Given the description of an element on the screen output the (x, y) to click on. 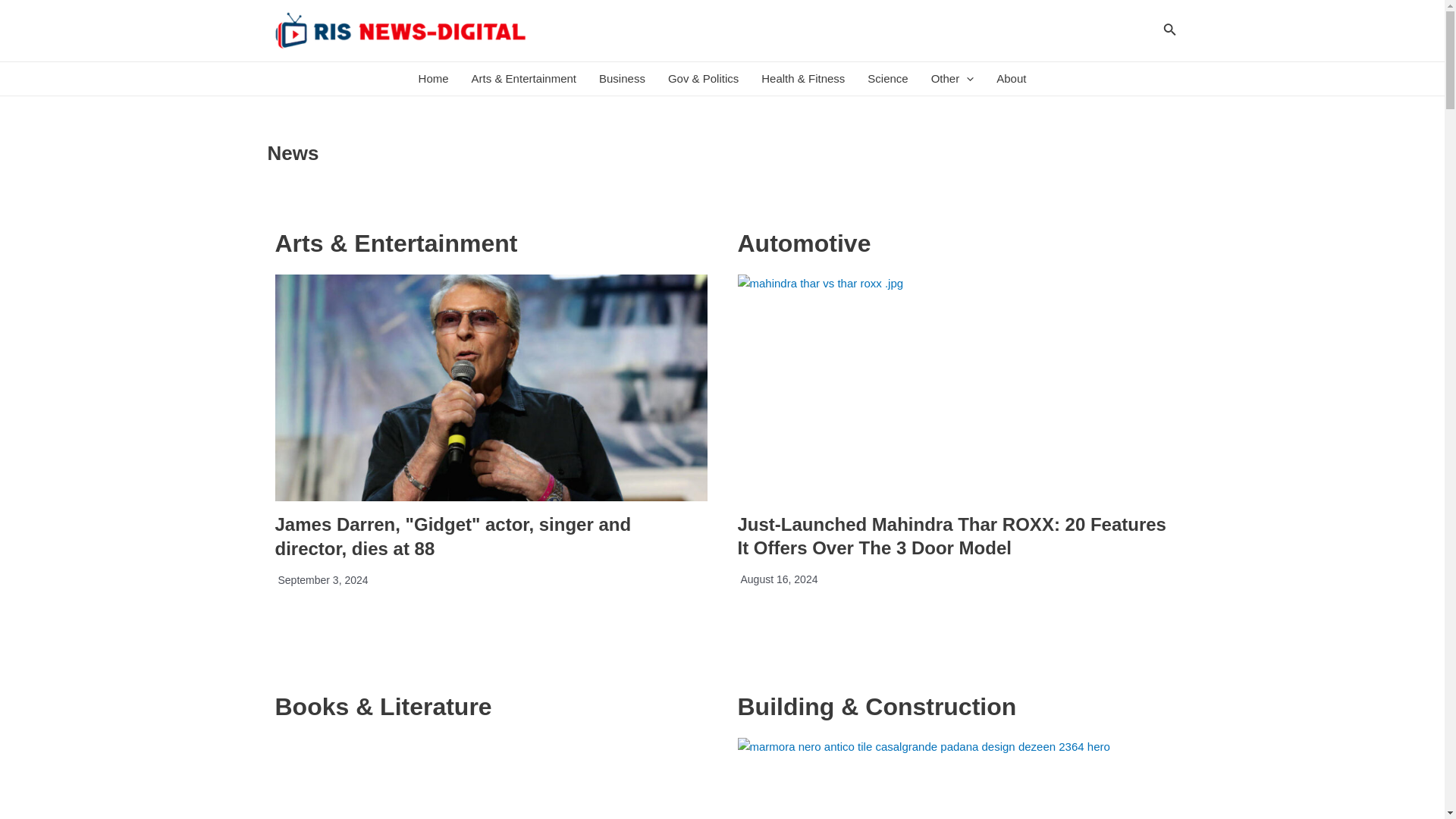
About (1010, 78)
Home (433, 78)
Science (887, 78)
Other (952, 78)
Business (622, 78)
